Given the description of an element on the screen output the (x, y) to click on. 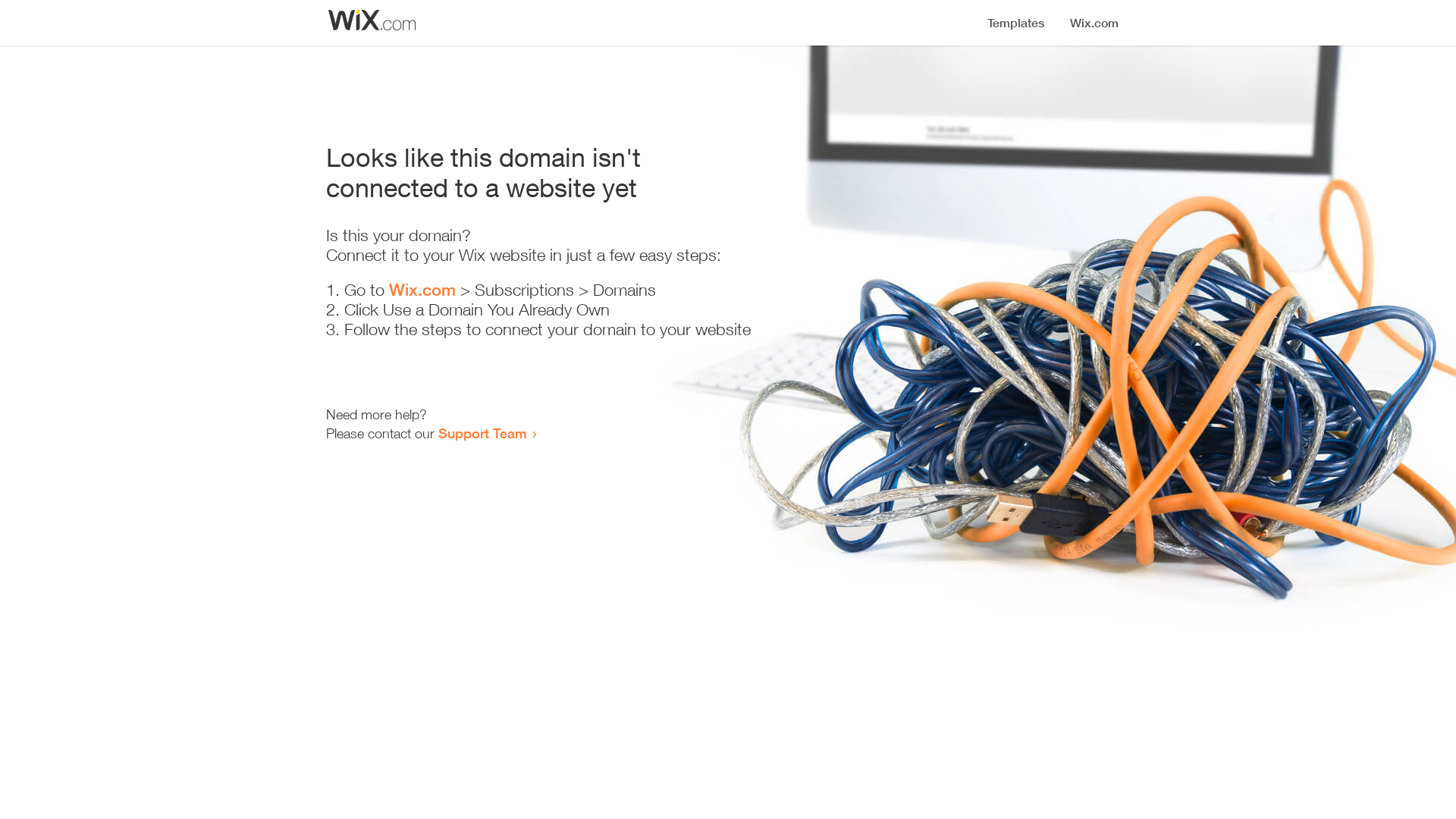
Wix.com Element type: text (422, 289)
Support Team Element type: text (482, 432)
